Given the description of an element on the screen output the (x, y) to click on. 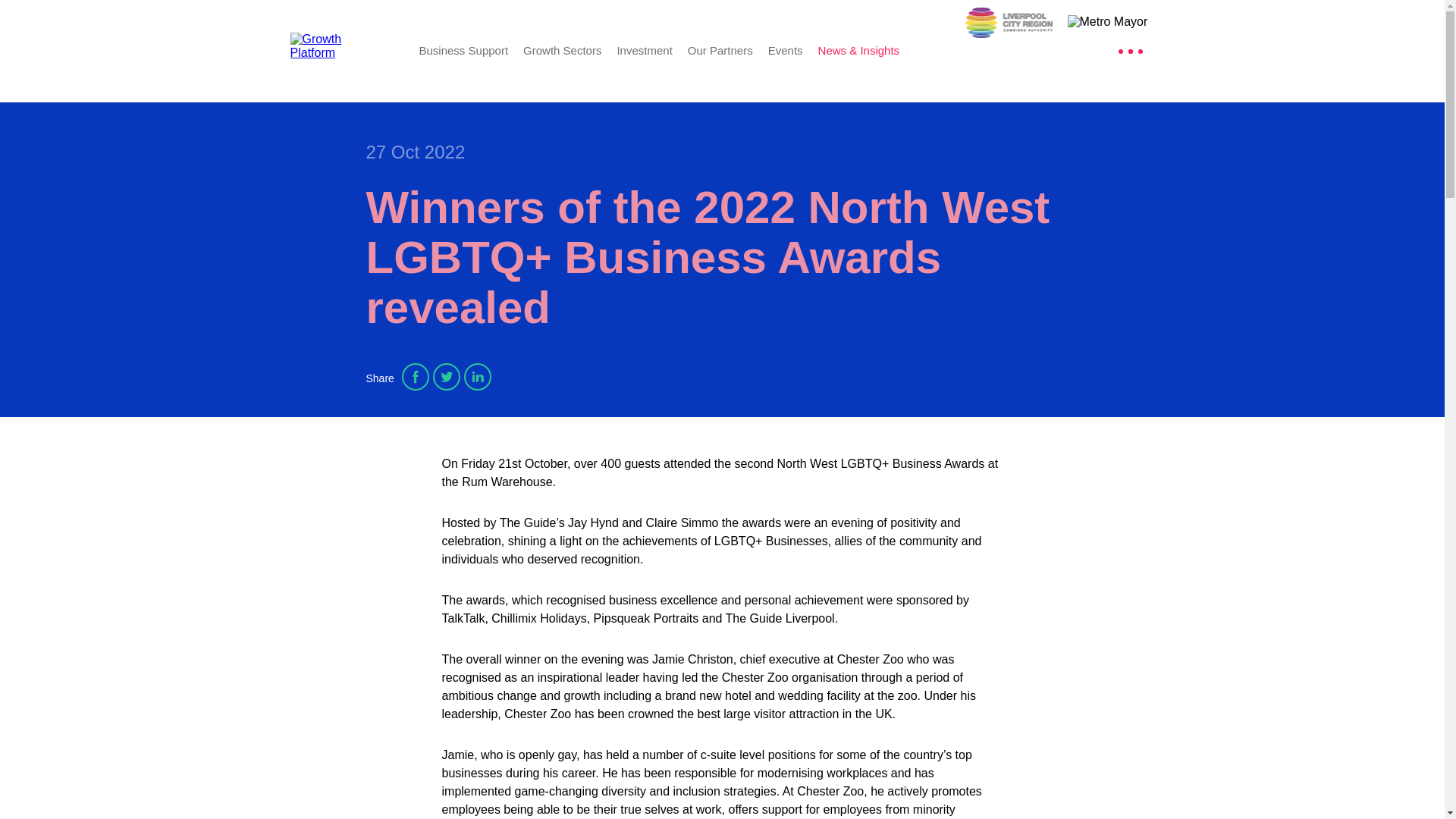
Investment (643, 50)
Our Partners (719, 50)
Go to Growth Platform homepage (342, 50)
Business Support (463, 50)
Growth Sectors (561, 50)
